Given the description of an element on the screen output the (x, y) to click on. 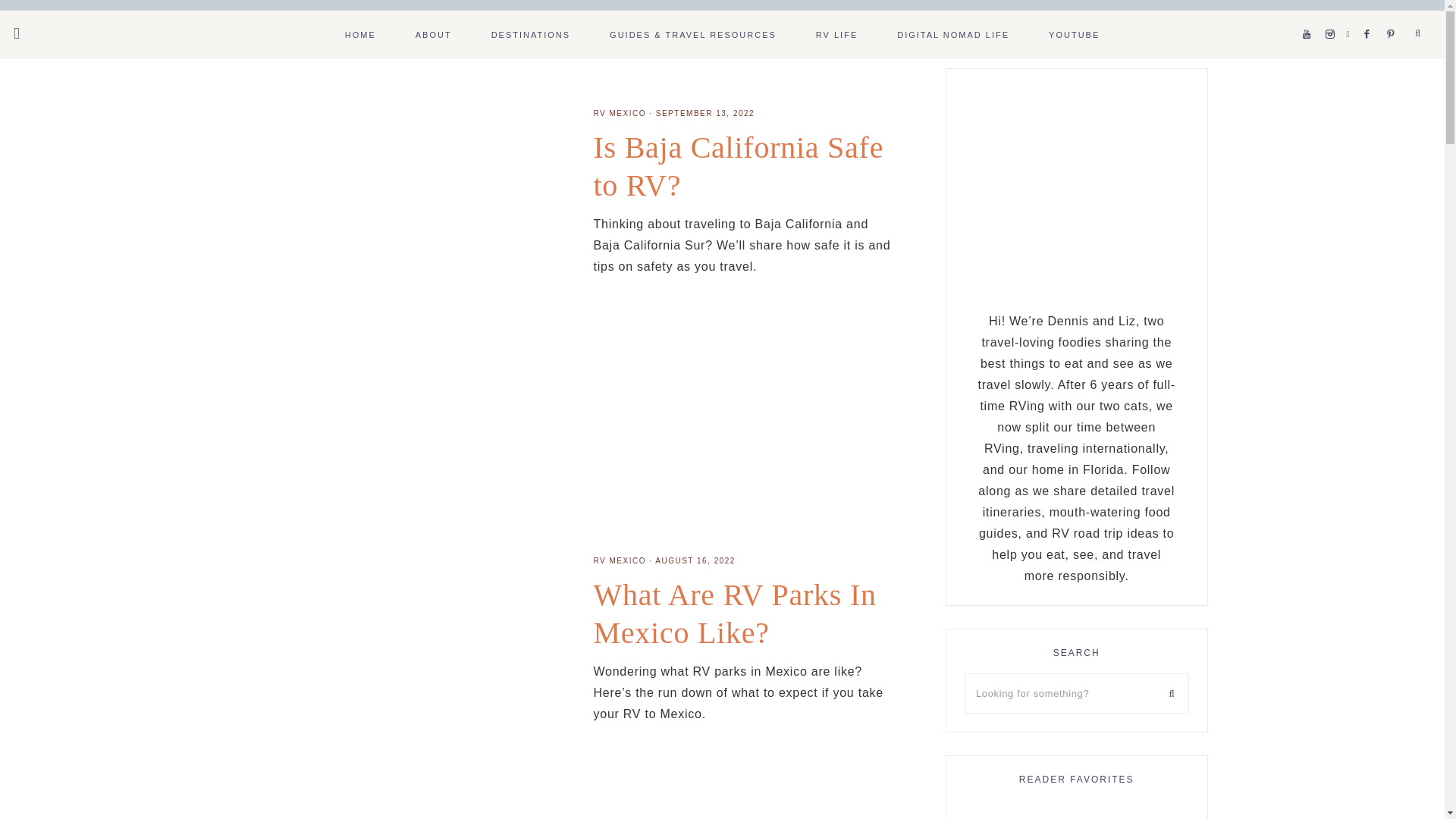
ABOUT (433, 33)
Facebook (1370, 14)
Youtube (1310, 14)
Pinterest (1393, 14)
TikTok (1351, 14)
Instagram (1332, 14)
HOME (360, 33)
